Given the description of an element on the screen output the (x, y) to click on. 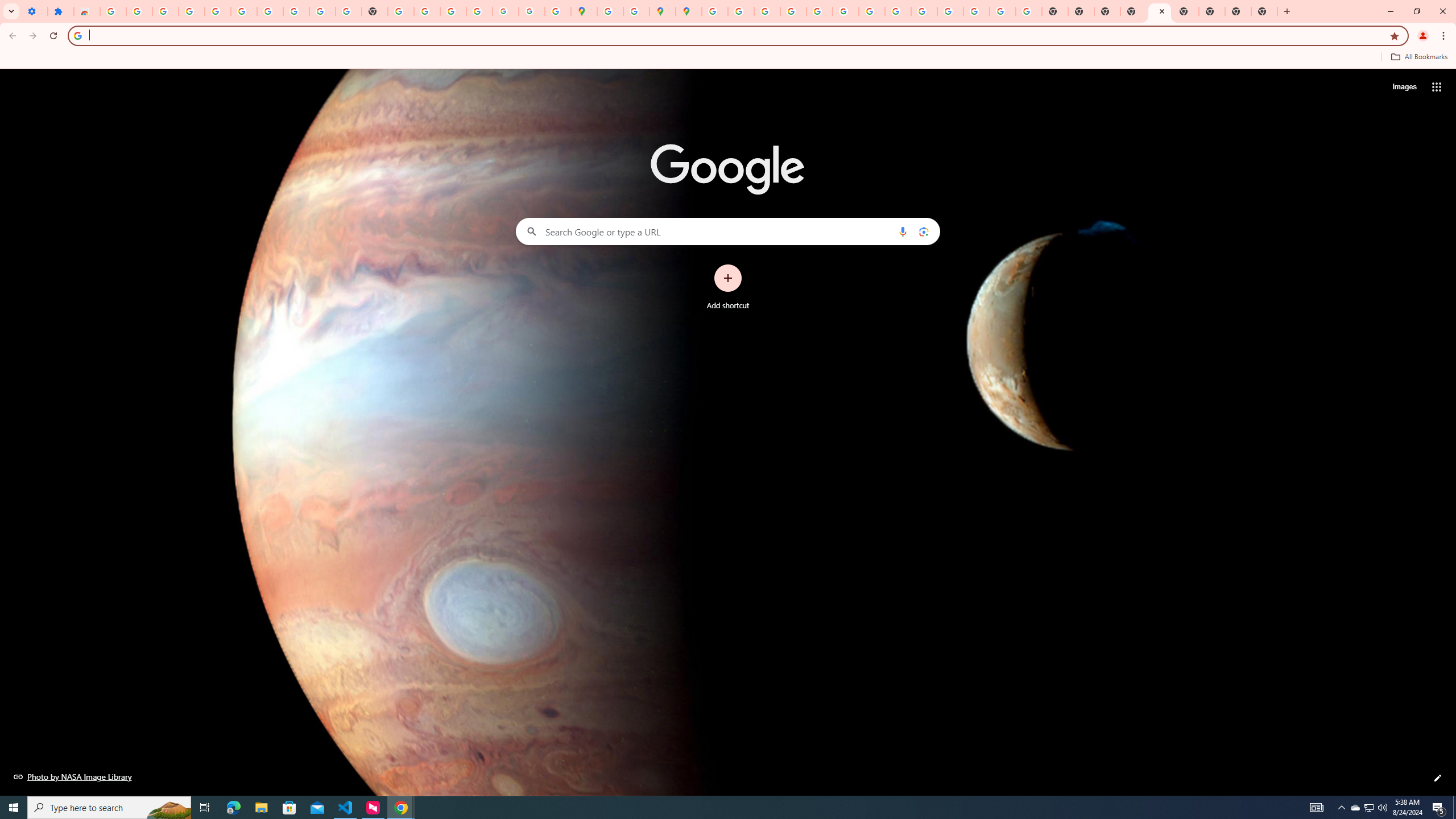
Reload (52, 35)
New Tab (1286, 11)
System (6, 6)
Forward (32, 35)
Safety in Our Products - Google Safety Center (636, 11)
Back (10, 35)
